Given the description of an element on the screen output the (x, y) to click on. 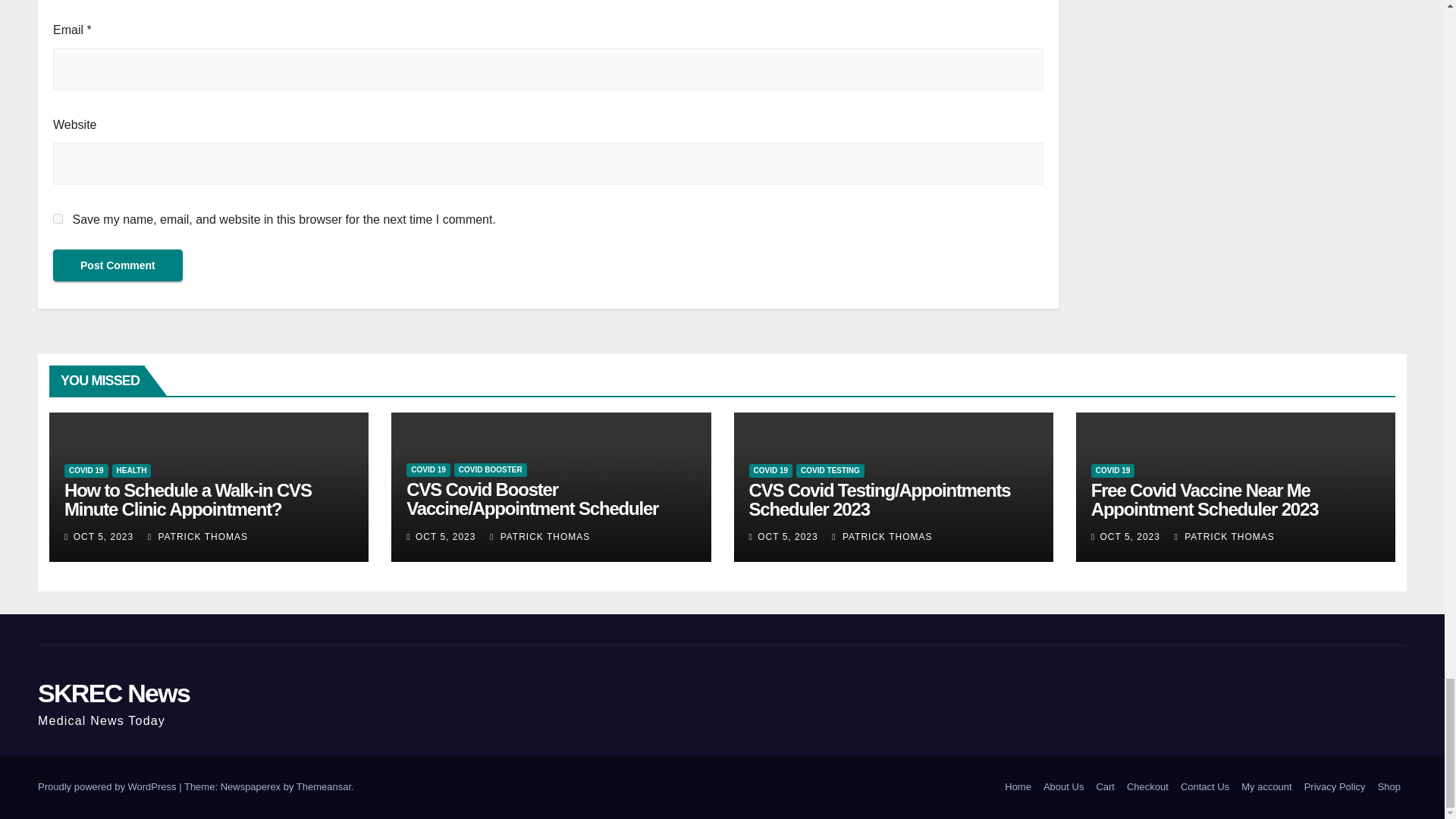
yes (57, 218)
Post Comment (117, 265)
Home (1017, 786)
